Given the description of an element on the screen output the (x, y) to click on. 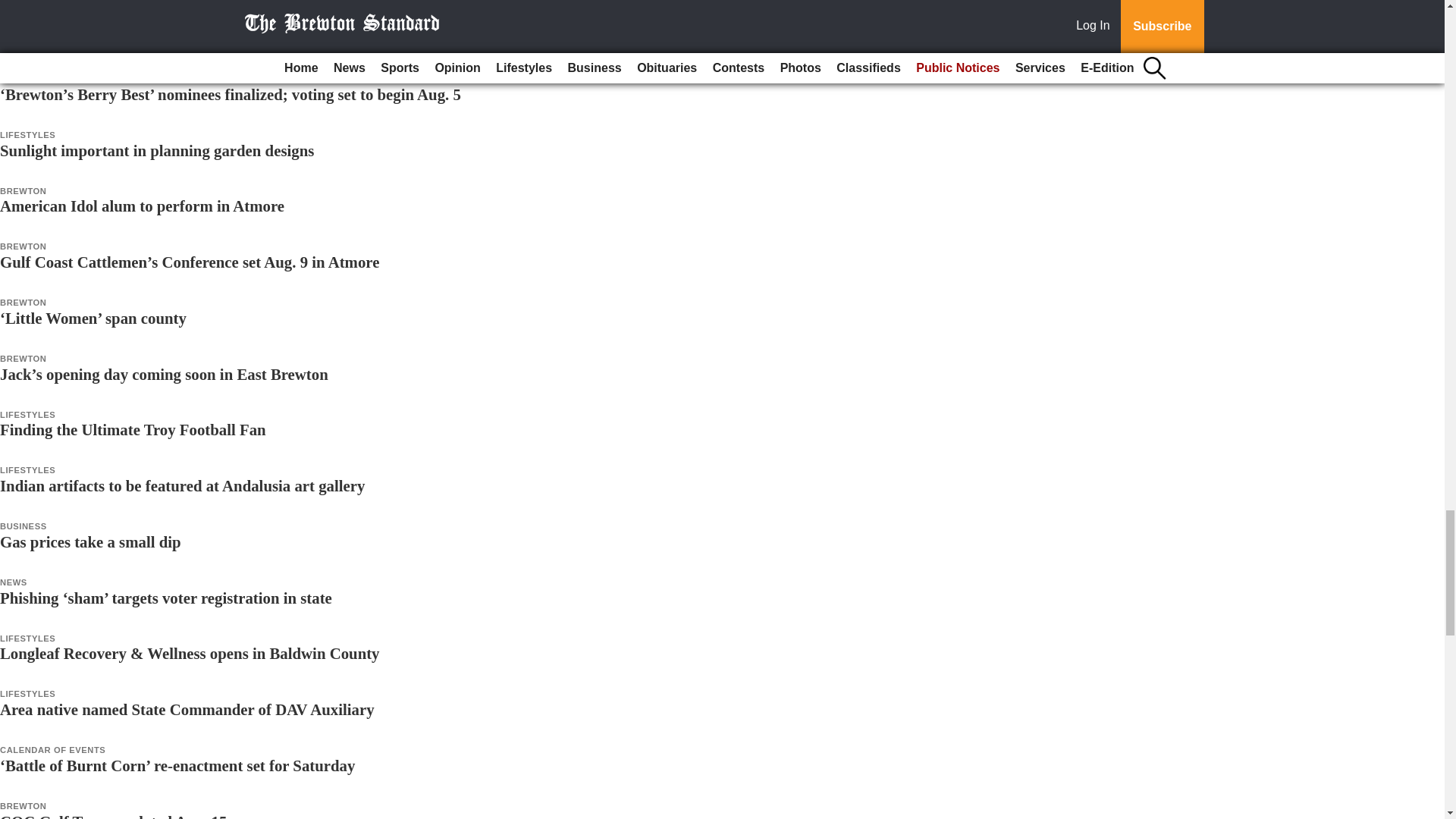
Area native named State Commander of DAV Auxiliary (187, 709)
Sunlight important in planning garden designs (157, 149)
Indian artifacts to be featured at Andalusia art gallery (182, 485)
COC Golf Tourney slated Aug. 15 (113, 816)
Gas prices take a small dip (90, 541)
American Idol alum to perform in Atmore (141, 205)
Finding the Ultimate Troy Football Fan (133, 429)
State residents to get first dibs on park reservations (173, 37)
State residents to get first dibs on park reservations (173, 37)
